Given the description of an element on the screen output the (x, y) to click on. 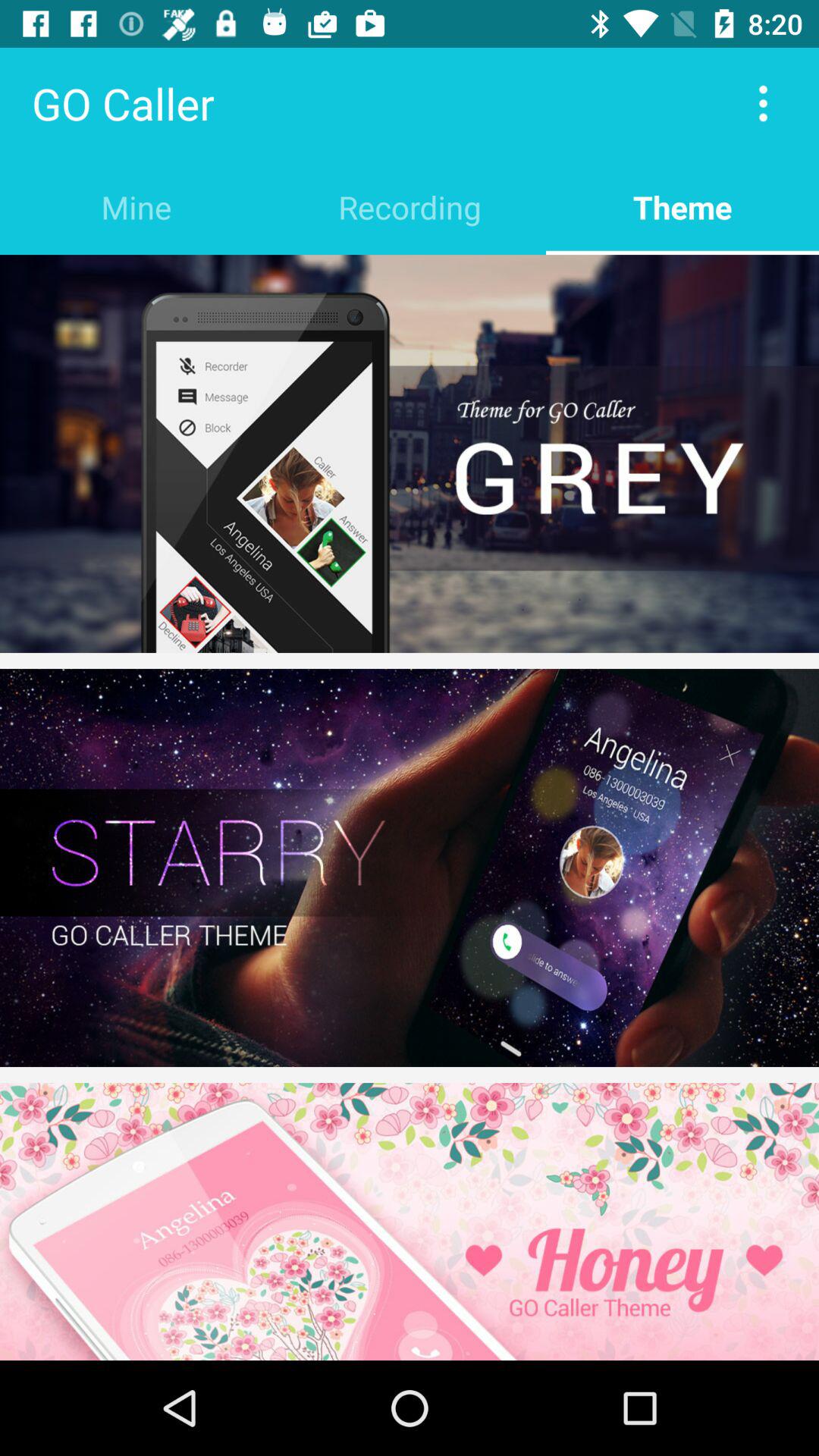
turn off icon below the go caller item (136, 206)
